Given the description of an element on the screen output the (x, y) to click on. 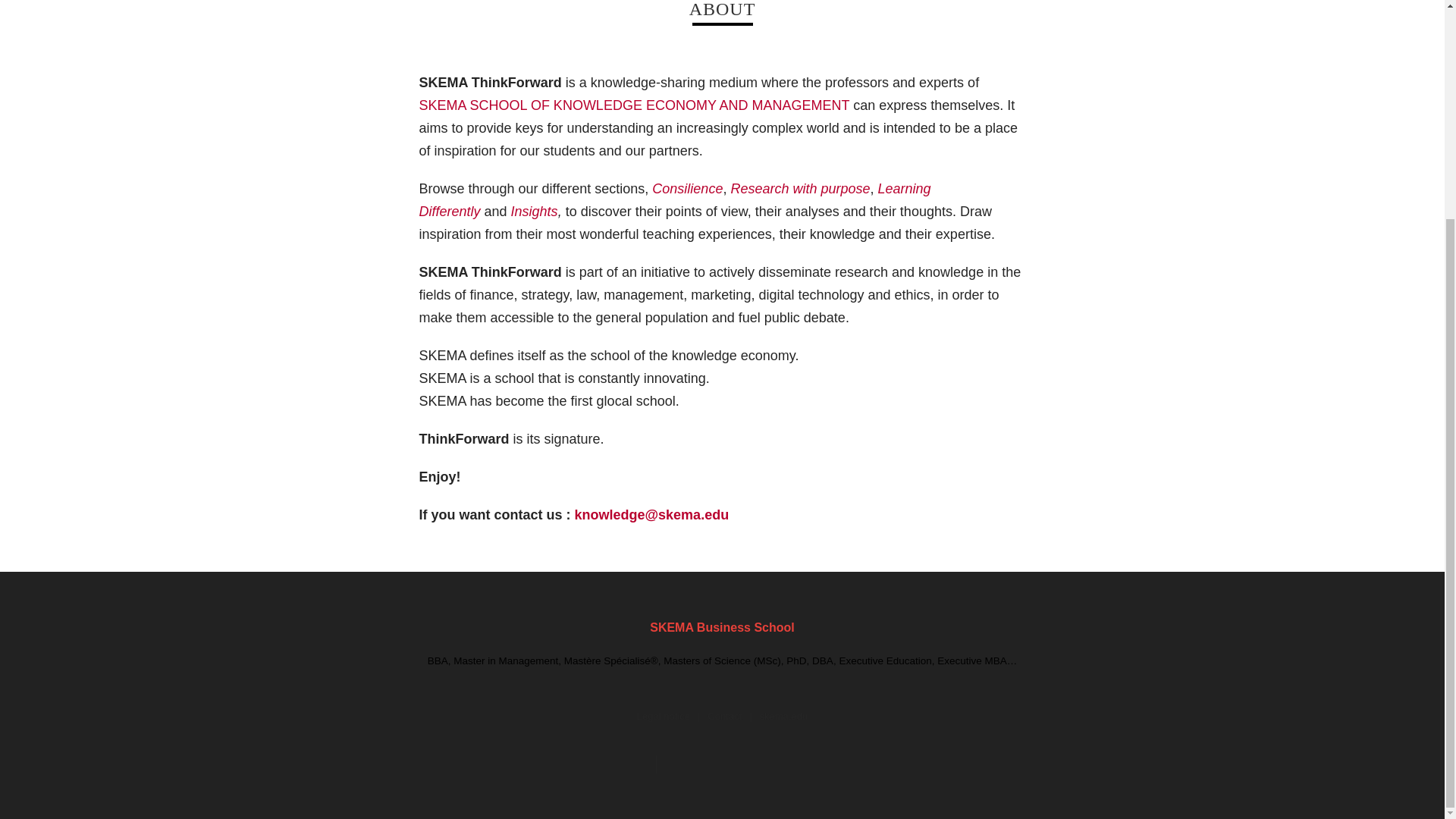
Legal notice (663, 716)
Consilience (687, 188)
Contact (724, 716)
Research with purpose (799, 188)
SKEMA SCHOOL OF KNOWLEDGE ECONOMY AND MANAGEMENT (633, 105)
Learning Differently (674, 199)
skema.edu (784, 716)
Insights (534, 211)
